Given the description of an element on the screen output the (x, y) to click on. 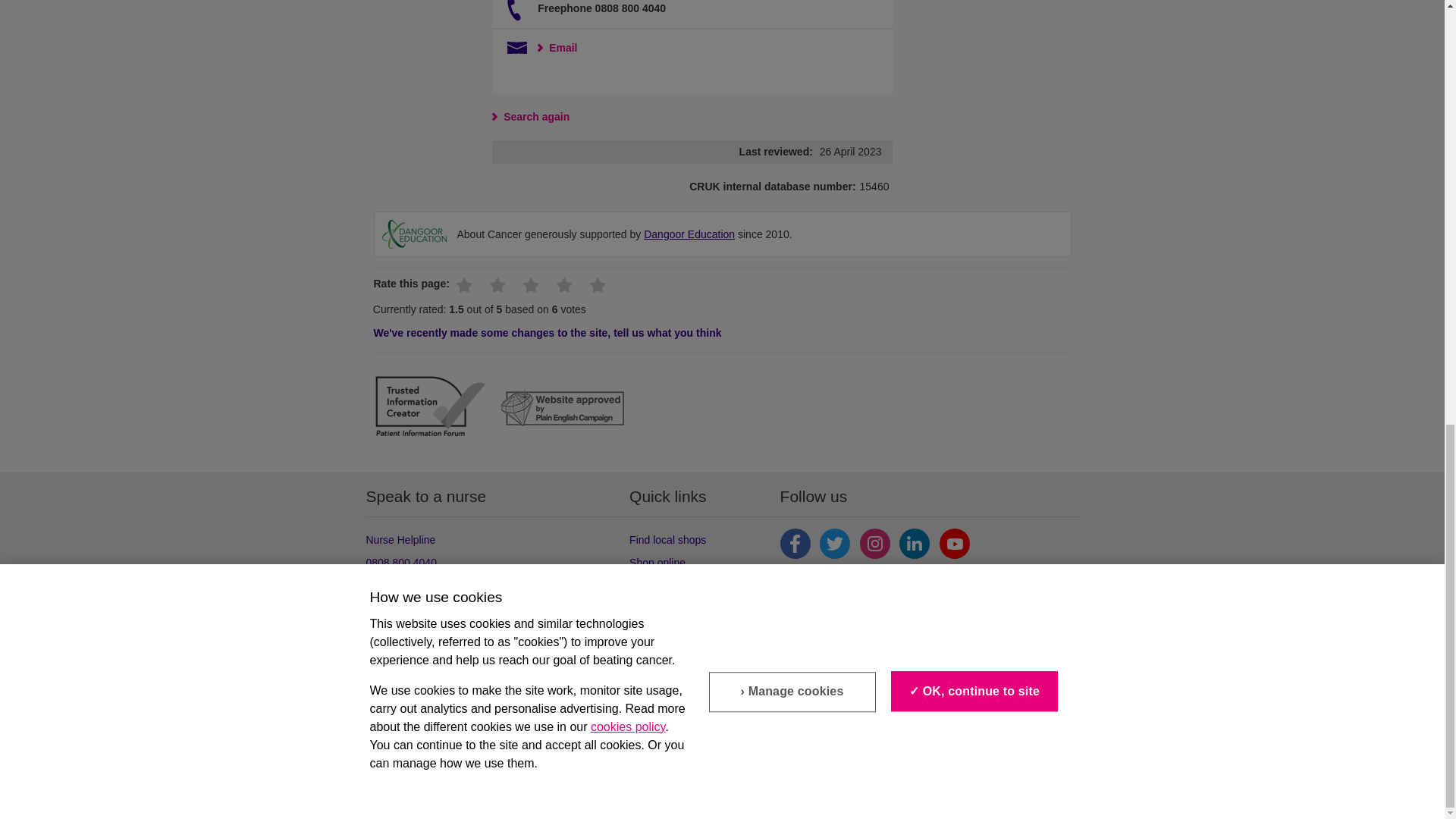
Visit the Patient Information Forum (429, 408)
Dangoor Education (413, 234)
Visit Dangoor Education (689, 234)
Visit the Plain English Campaign (562, 409)
